Given the description of an element on the screen output the (x, y) to click on. 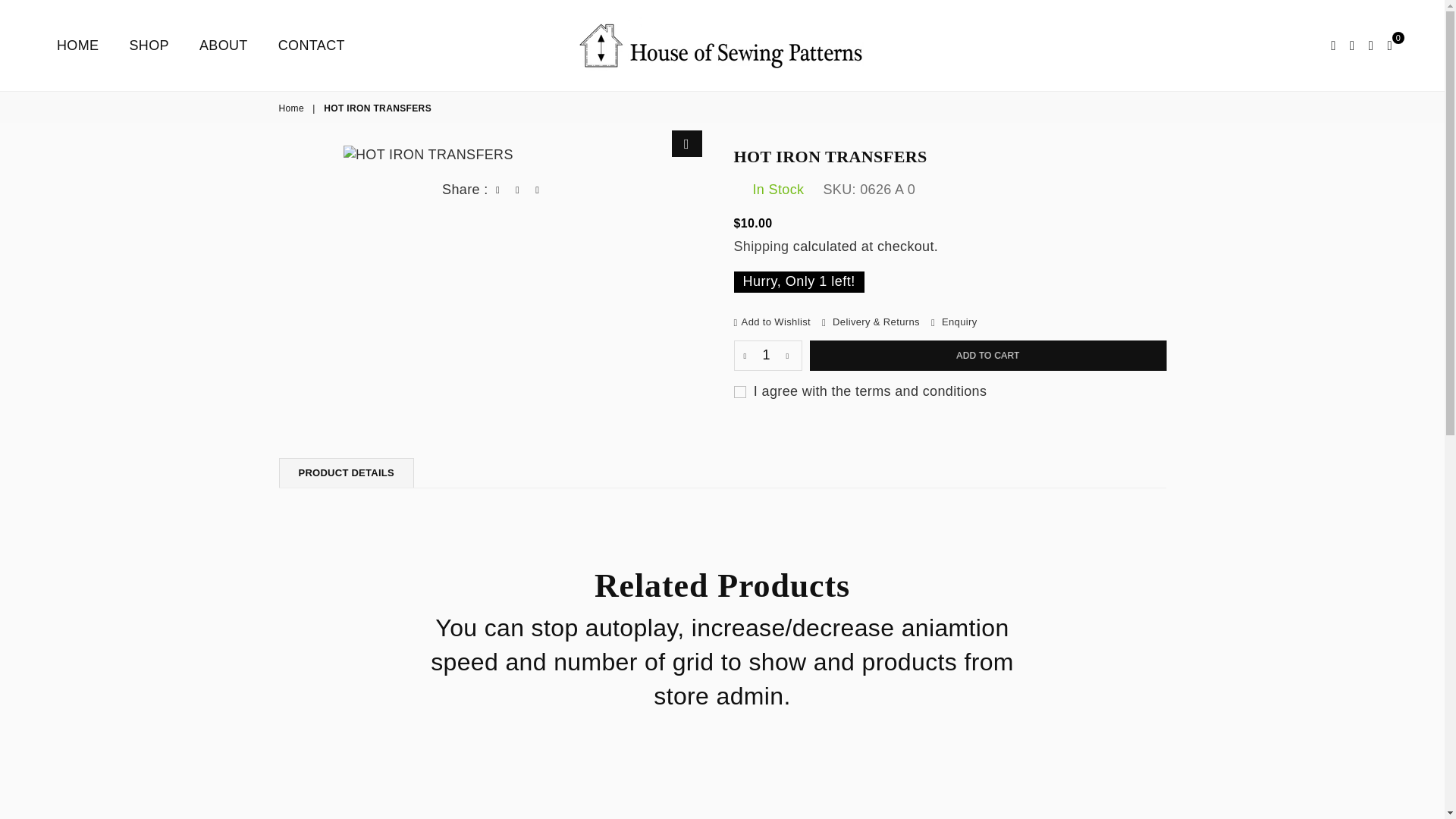
Share by Email (537, 189)
Quantity (767, 355)
Tweet on Twitter (518, 189)
ABOUT (223, 45)
HOME (77, 45)
Back to the home page (292, 108)
Share on Facebook (497, 189)
CONTACT (311, 45)
SHOP (148, 45)
Sewing Patterns House (722, 44)
